Given the description of an element on the screen output the (x, y) to click on. 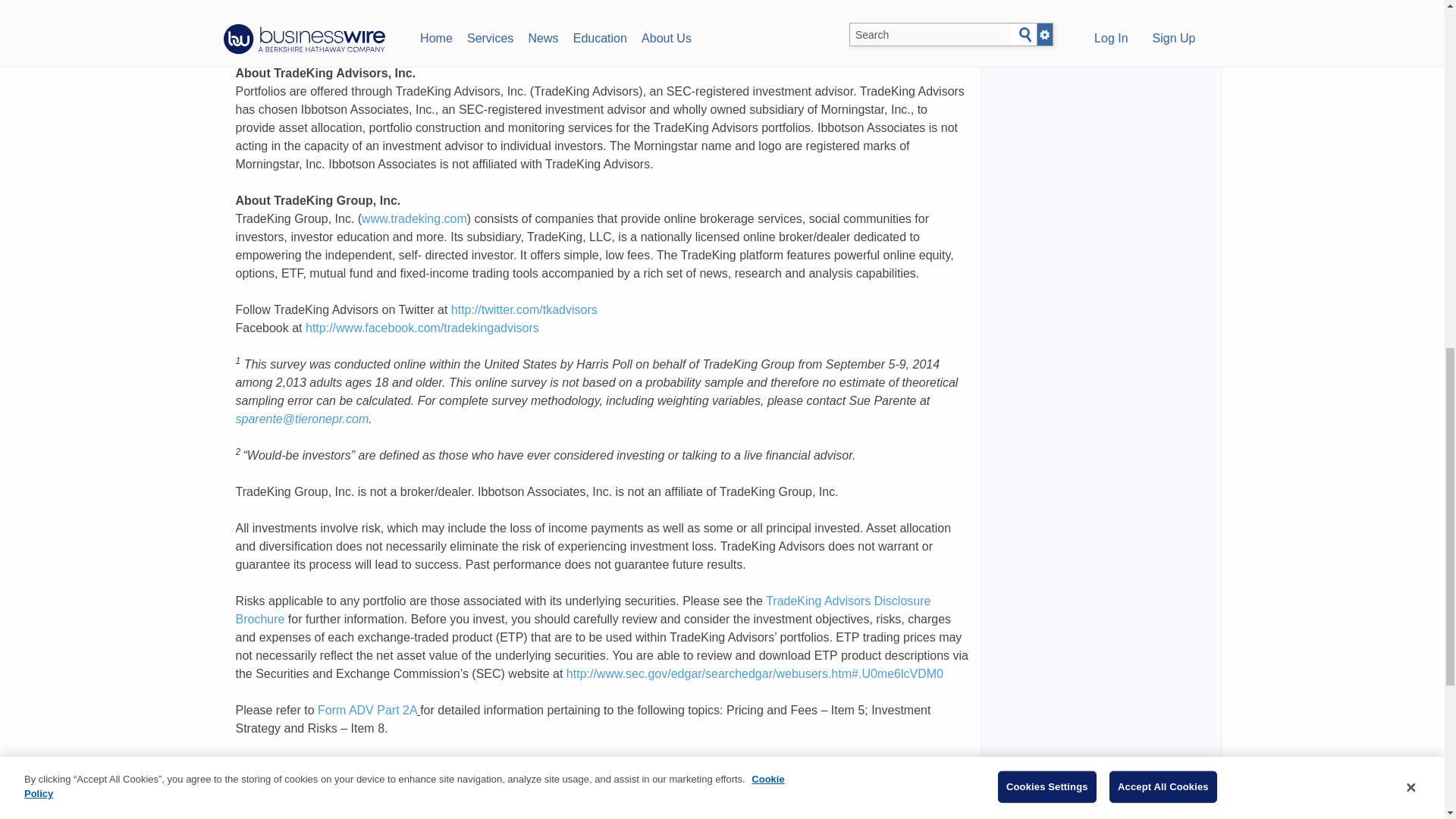
FINRA (252, 800)
SIPC (312, 800)
Form ADV Part 2A (366, 709)
www.tradeking.com (414, 218)
TradeKing Advisors Disclosure Brochure (582, 609)
